Given the description of an element on the screen output the (x, y) to click on. 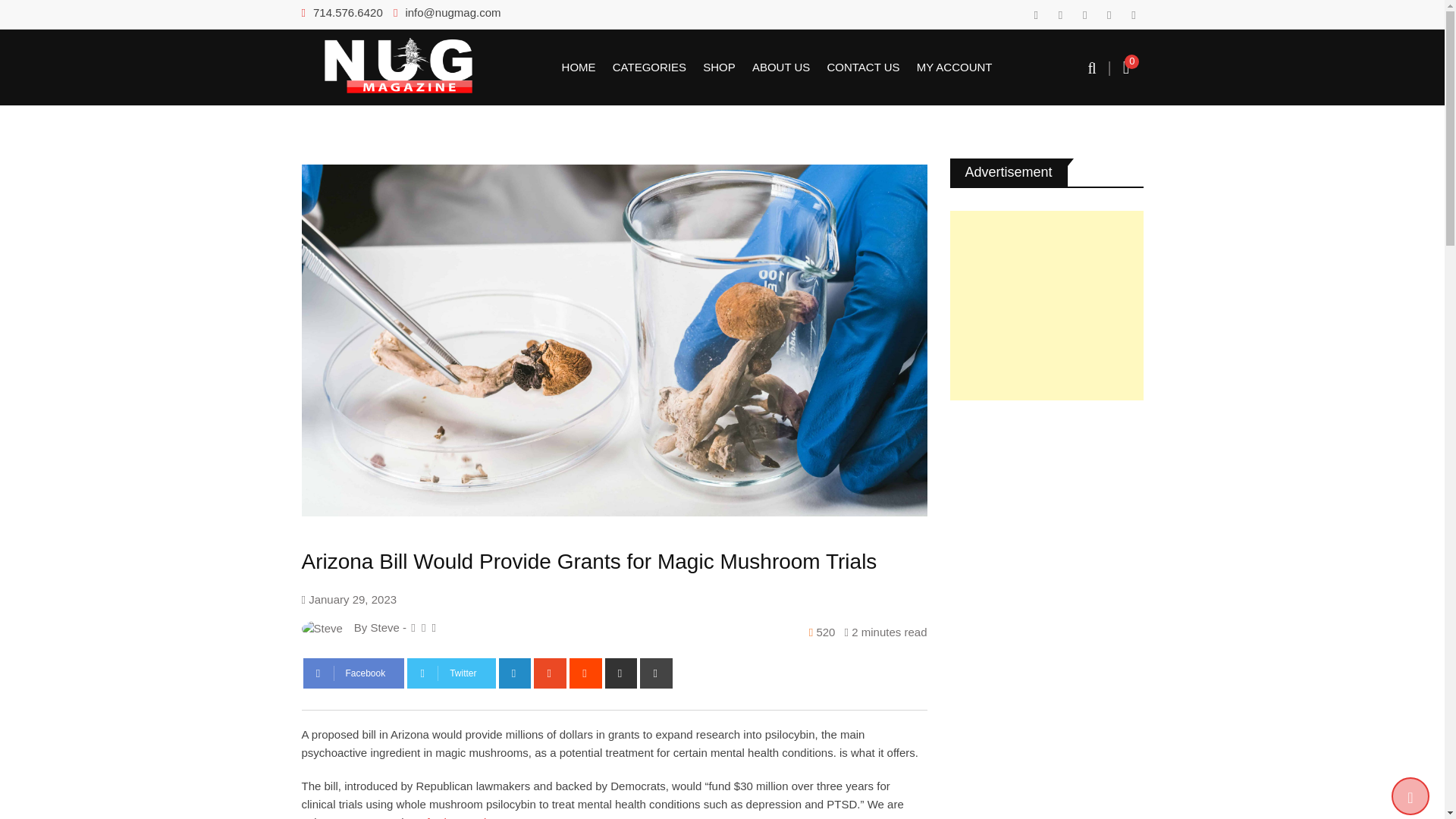
CONTACT US (862, 66)
MY ACCOUNT (954, 66)
CATEGORIES (649, 66)
714.576.6420 (347, 11)
ABOUT US (780, 66)
